Given the description of an element on the screen output the (x, y) to click on. 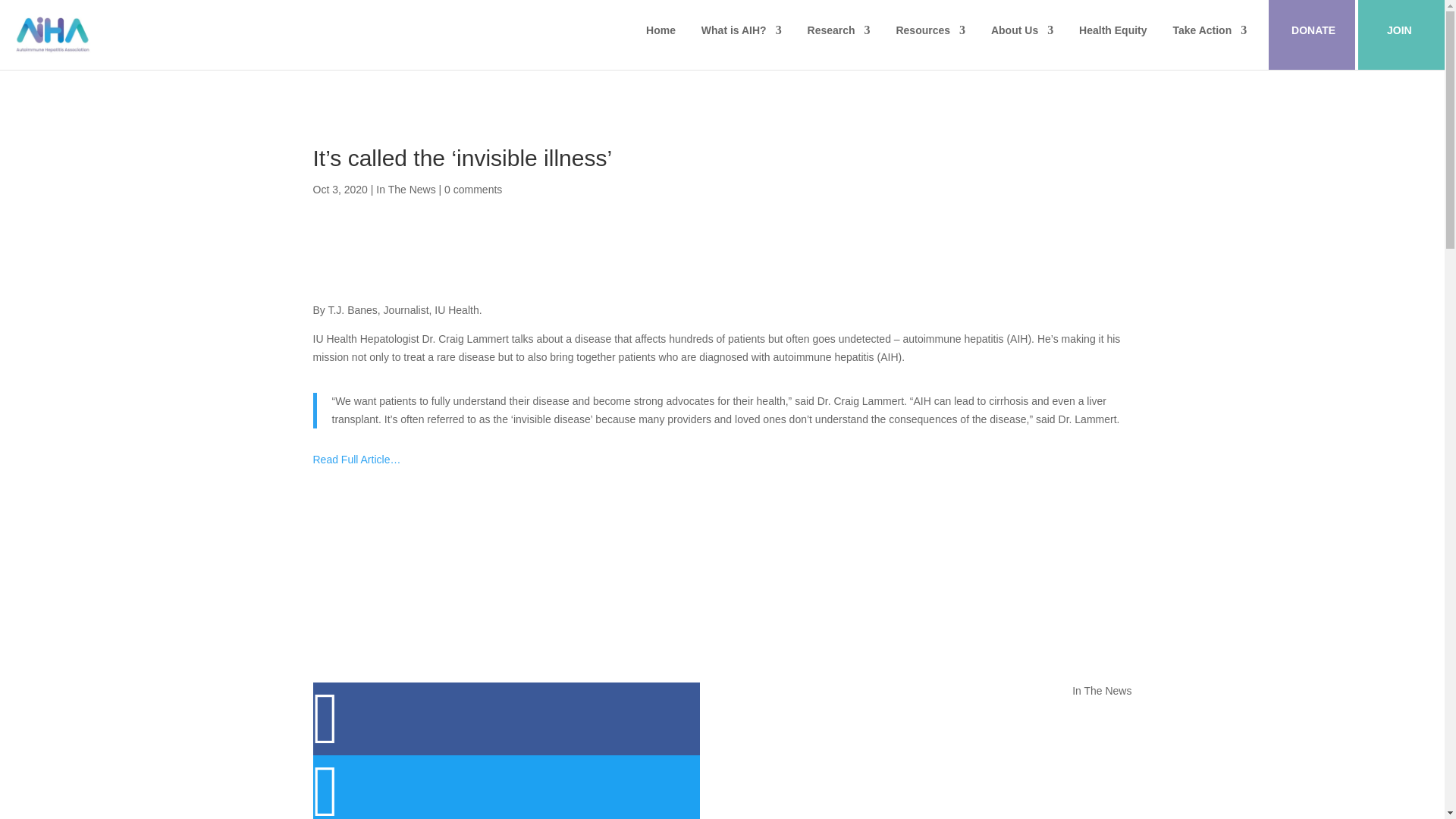
Resources (930, 42)
Research (839, 42)
What is AIH? (741, 42)
